Given the description of an element on the screen output the (x, y) to click on. 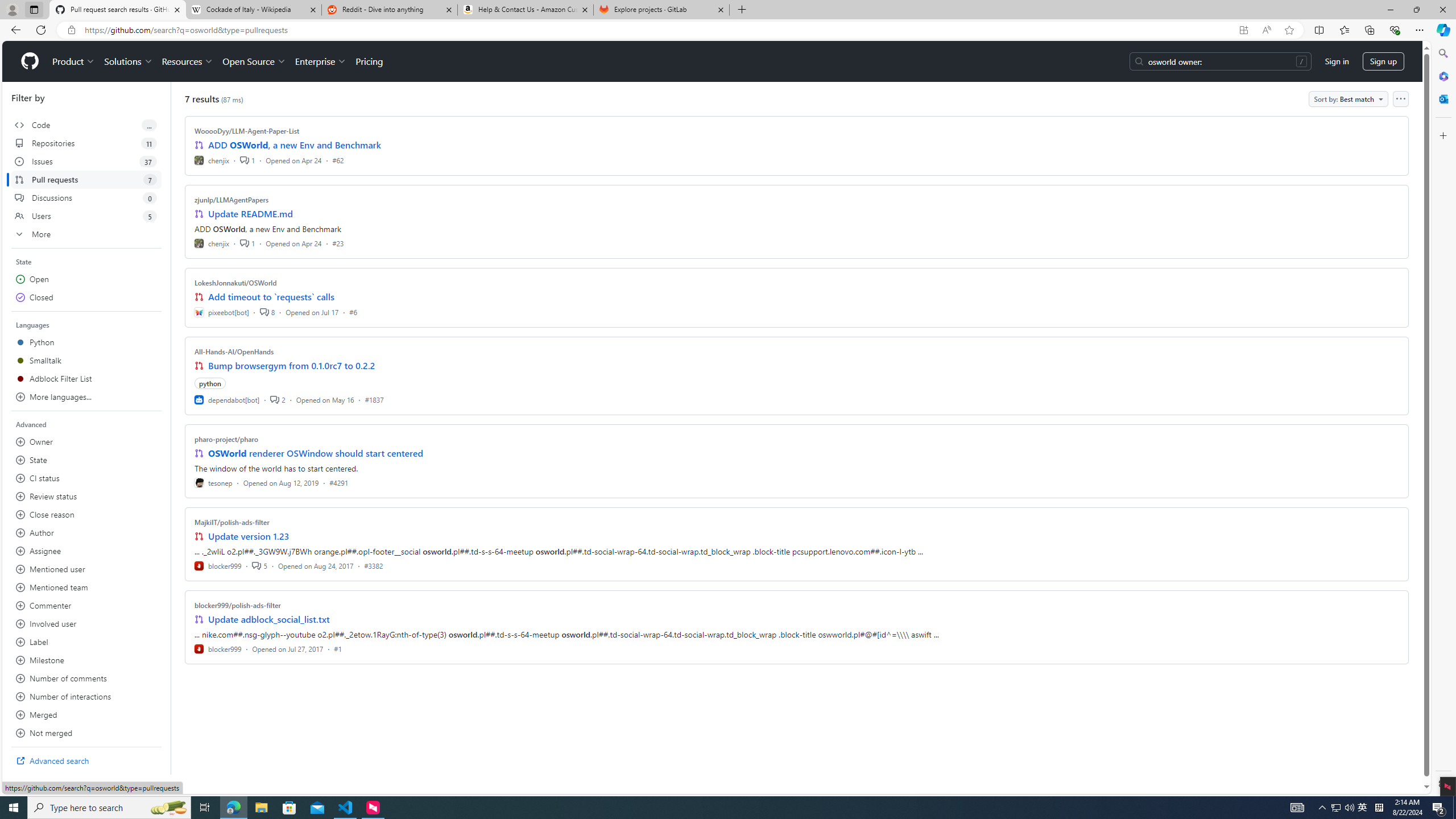
#6 (352, 311)
blocker999 (218, 648)
#4291 (338, 482)
